Given the description of an element on the screen output the (x, y) to click on. 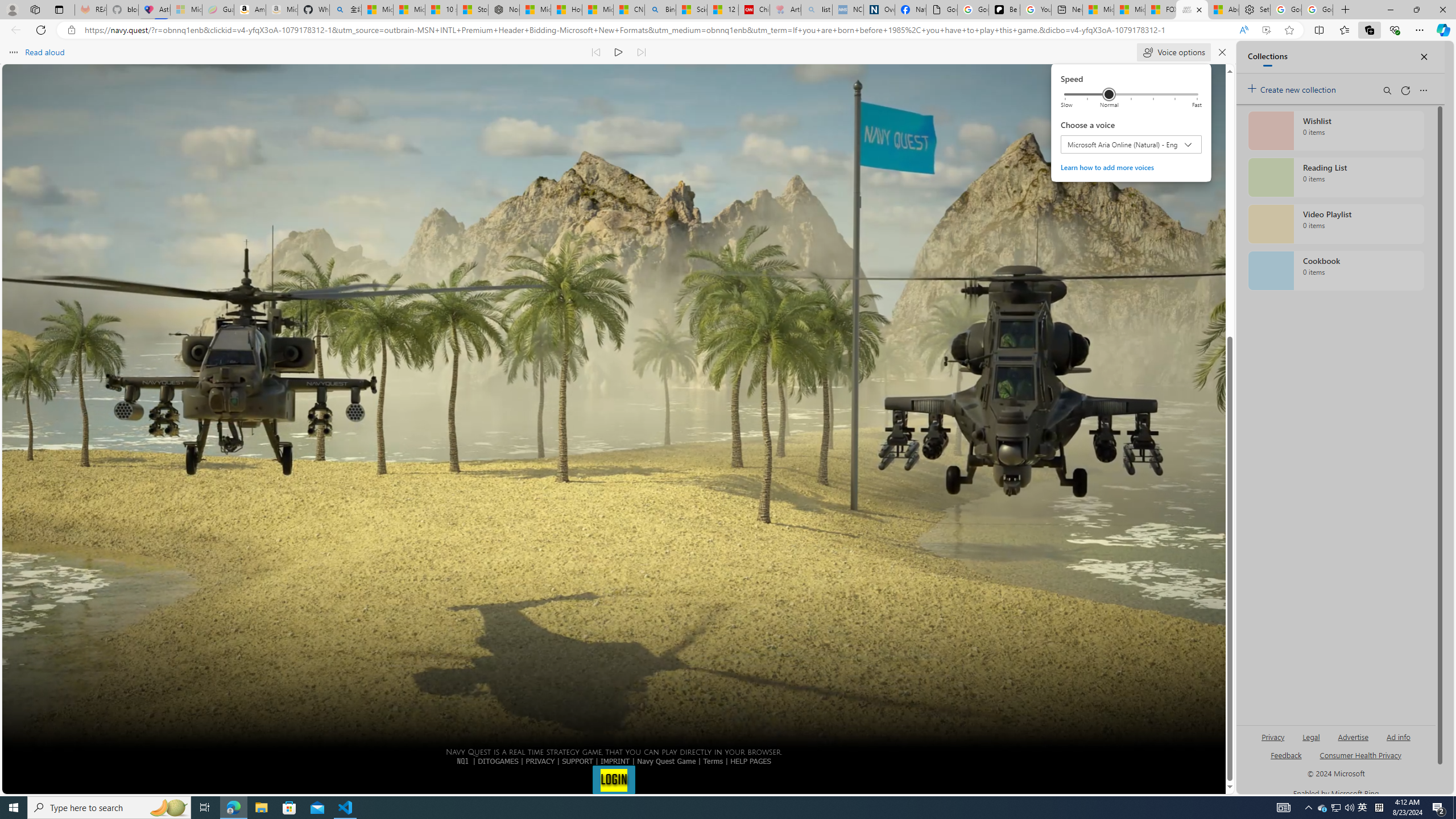
Start (13, 807)
Enhance video (1266, 29)
Microsoft Edge - 1 running window (233, 807)
Notification Chevron (1308, 807)
Microsoft Store (289, 807)
Stocks - MSN (472, 9)
Aberdeen, Hong Kong SAR hourly forecast | Microsoft Weather (1222, 9)
AutomationID: 4105 (1283, 807)
Q2790: 100% (1349, 807)
